Given the description of an element on the screen output the (x, y) to click on. 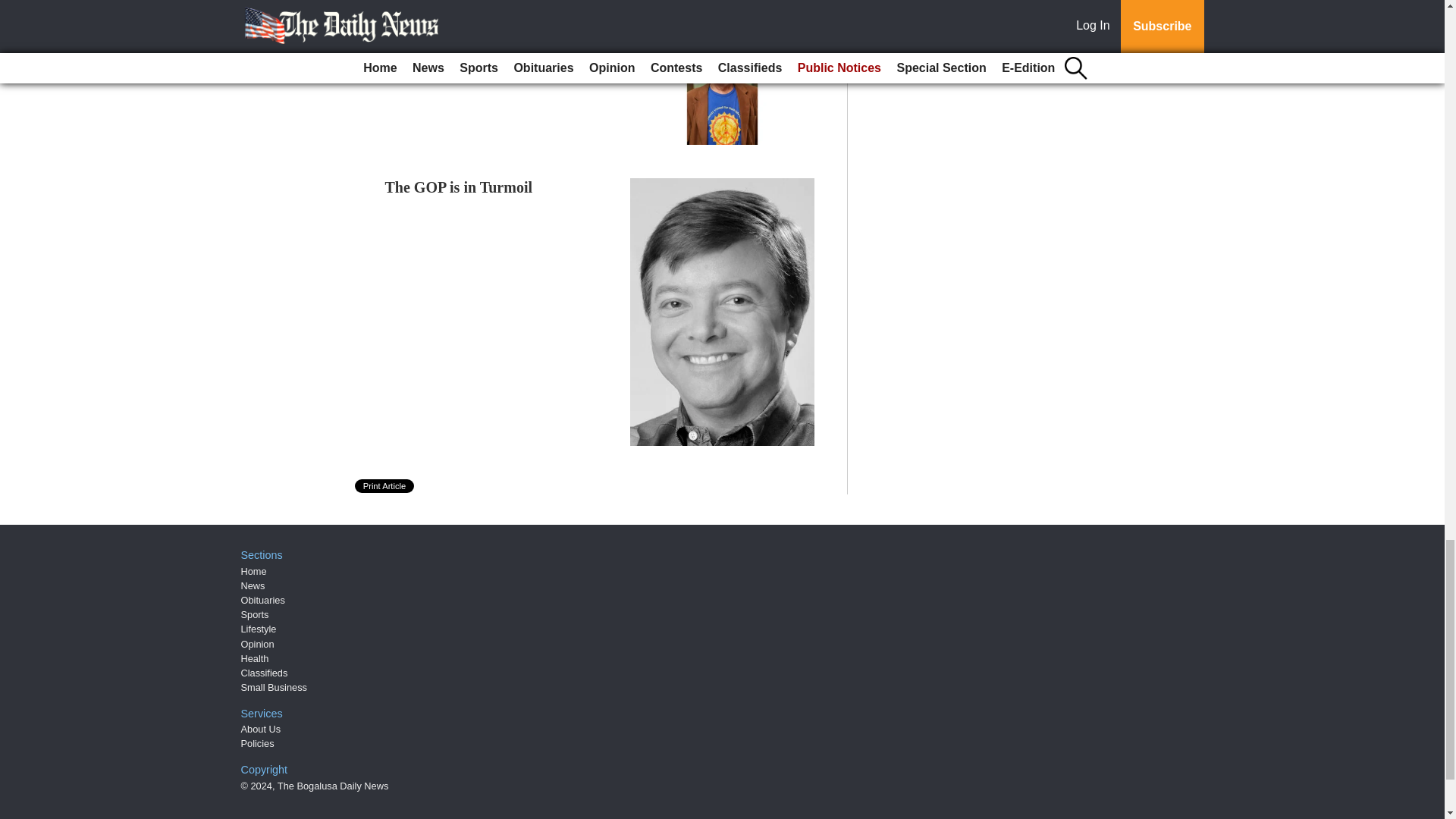
Policies (258, 743)
Obituaries (263, 600)
Two Views of Bidenomics (467, 52)
Print Article (384, 486)
News (252, 585)
Classifieds (264, 672)
Sports (255, 614)
The GOP is in Turmoil (458, 187)
Home (253, 571)
Lifestyle (258, 628)
Opinion (258, 644)
About Us (261, 728)
Health (255, 658)
Small Business (274, 686)
The GOP is in Turmoil (458, 187)
